Given the description of an element on the screen output the (x, y) to click on. 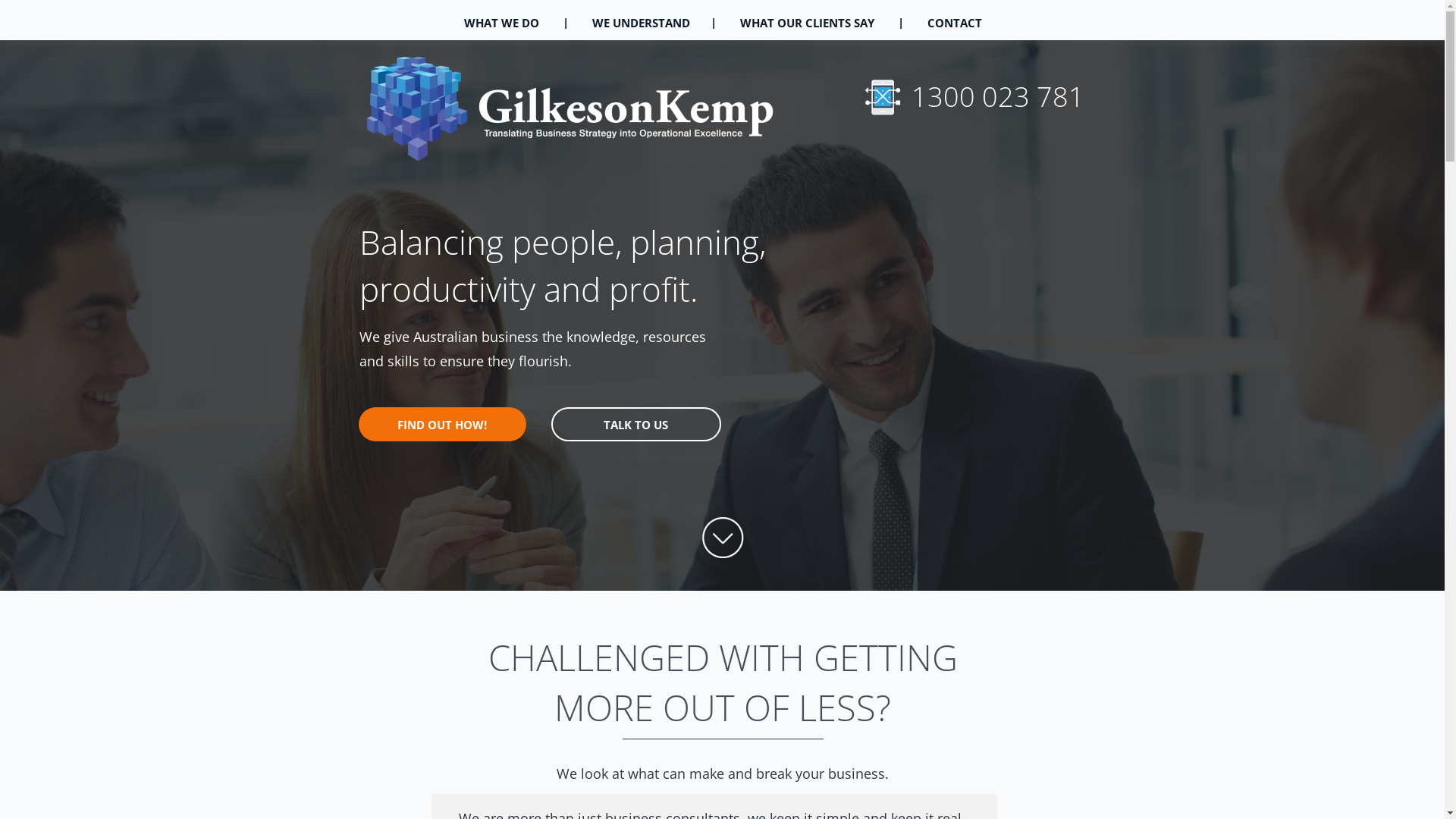
FIND OUT HOW! Element type: text (441, 437)
WHAT WE DO Element type: text (500, 23)
1300 023 781 Element type: text (997, 96)
CONTACT Element type: text (954, 23)
WHAT OUR CLIENTS SAY Element type: text (806, 23)
WE UNDERSTAND Element type: text (640, 23)
TALK TO US Element type: text (635, 436)
